Given the description of an element on the screen output the (x, y) to click on. 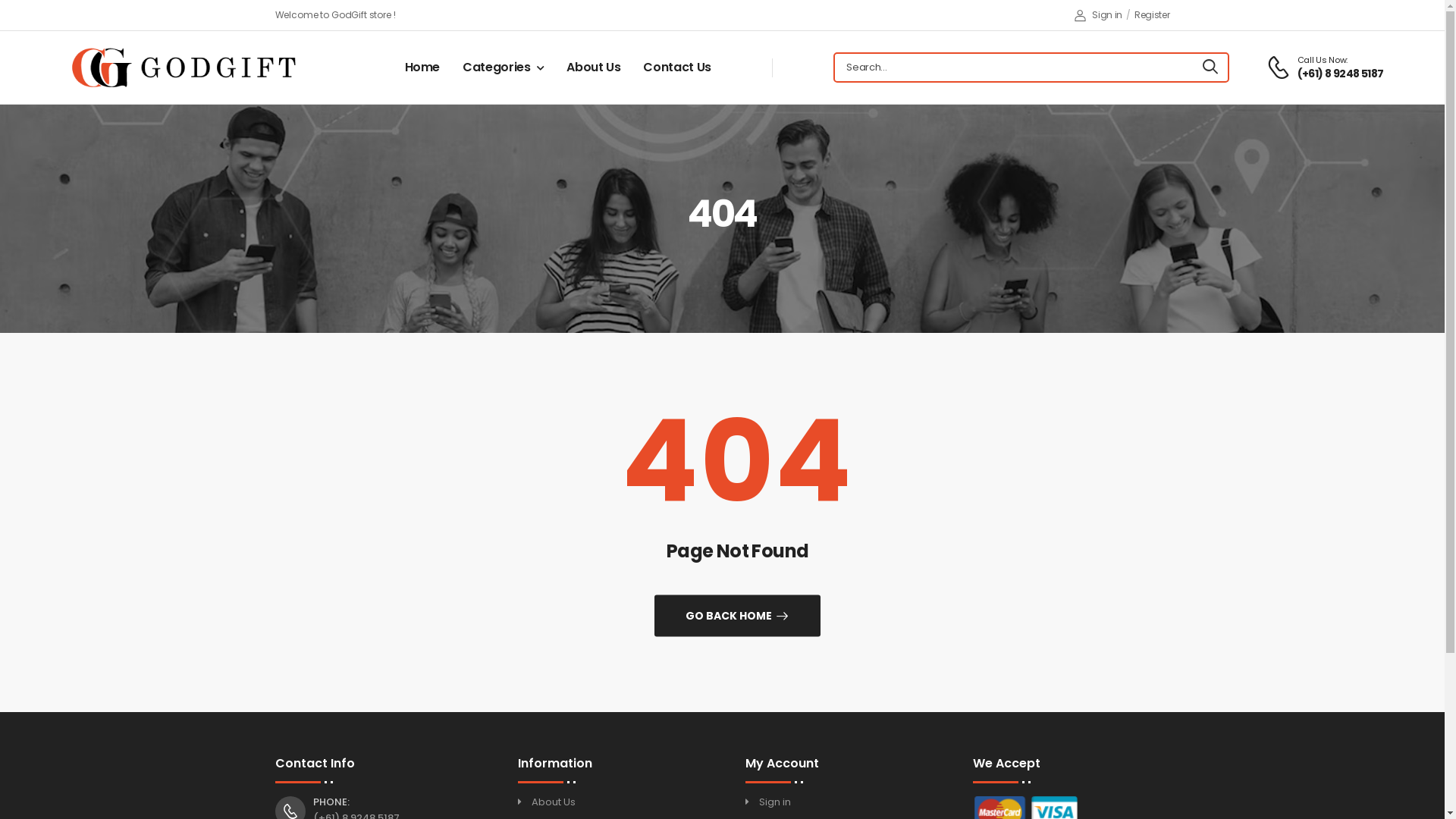
Categories Element type: text (502, 67)
About Us Element type: text (552, 801)
About Us Element type: text (593, 67)
Sign in Element type: text (774, 801)
Home Element type: text (422, 67)
GO BACK HOME Element type: text (737, 616)
Call Us Now:
(+61) 8 9248 5187 Element type: text (1325, 67)
Register Element type: text (1152, 14)
Contact Us Element type: text (677, 67)
Sign in Element type: text (1098, 14)
